Given the description of an element on the screen output the (x, y) to click on. 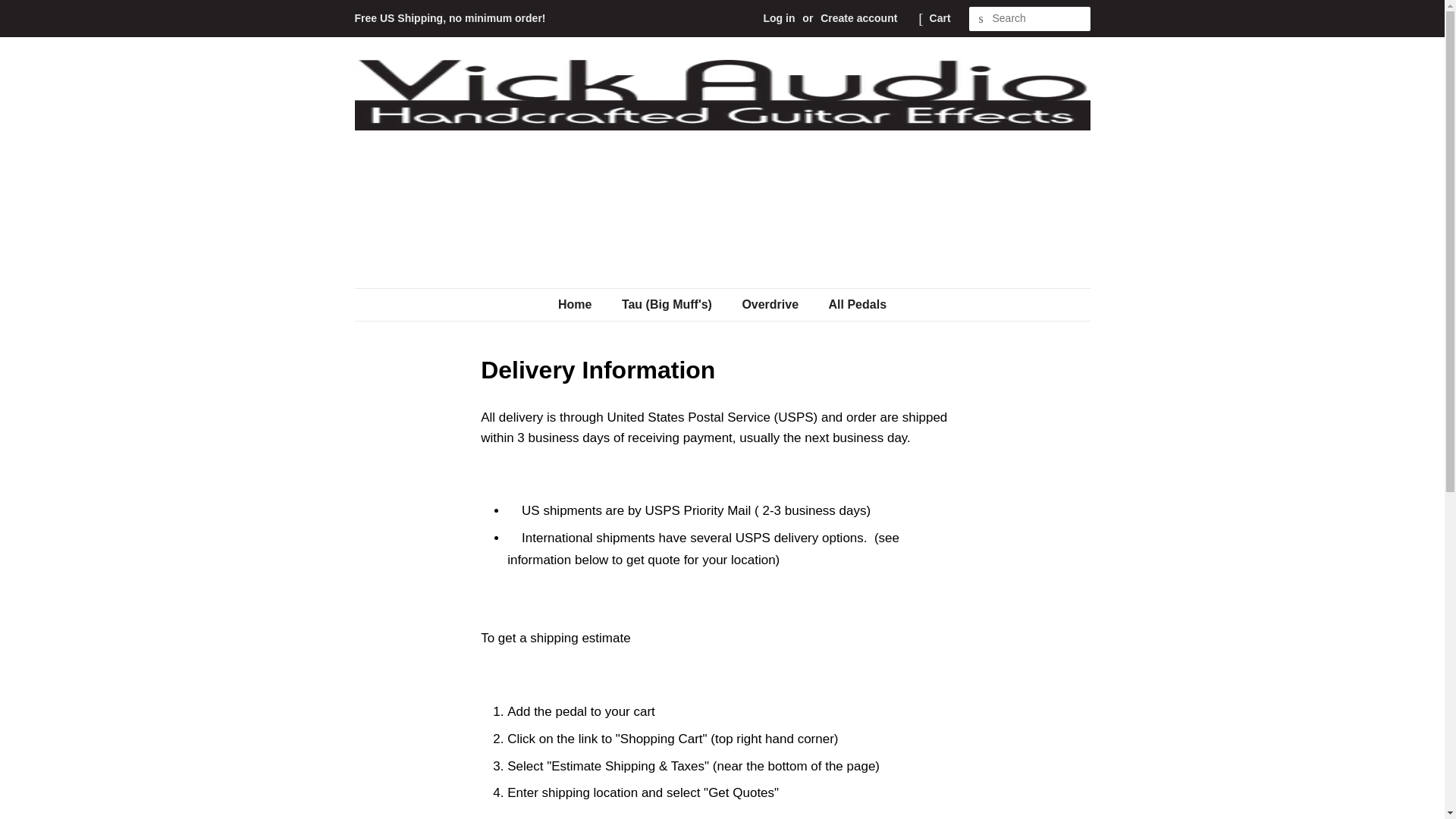
Overdrive (771, 304)
Log in (778, 18)
Cart (940, 18)
Search (980, 18)
Create account (858, 18)
All Pedals (851, 304)
Home (582, 304)
